Given the description of an element on the screen output the (x, y) to click on. 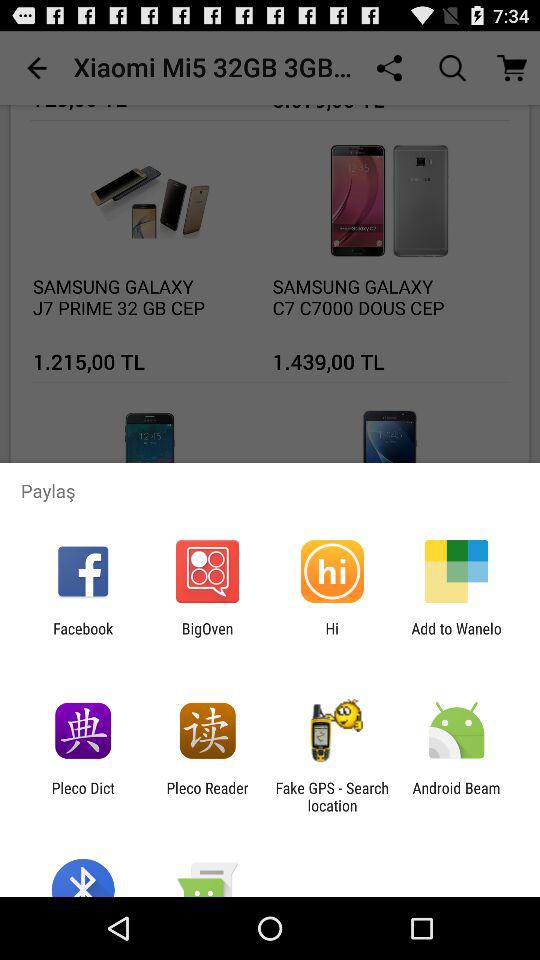
open the icon next to the hi item (456, 637)
